Given the description of an element on the screen output the (x, y) to click on. 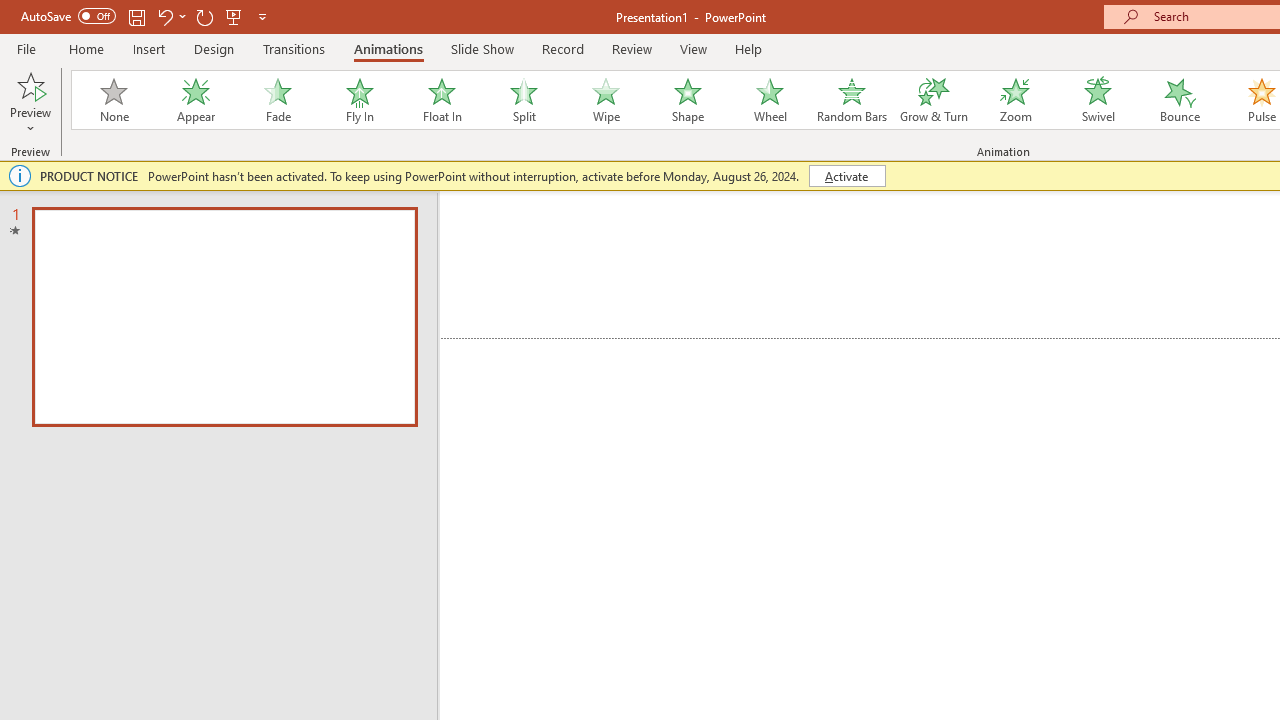
Random Bars (852, 100)
Swivel (1098, 100)
Appear (195, 100)
Fade (277, 100)
